Given the description of an element on the screen output the (x, y) to click on. 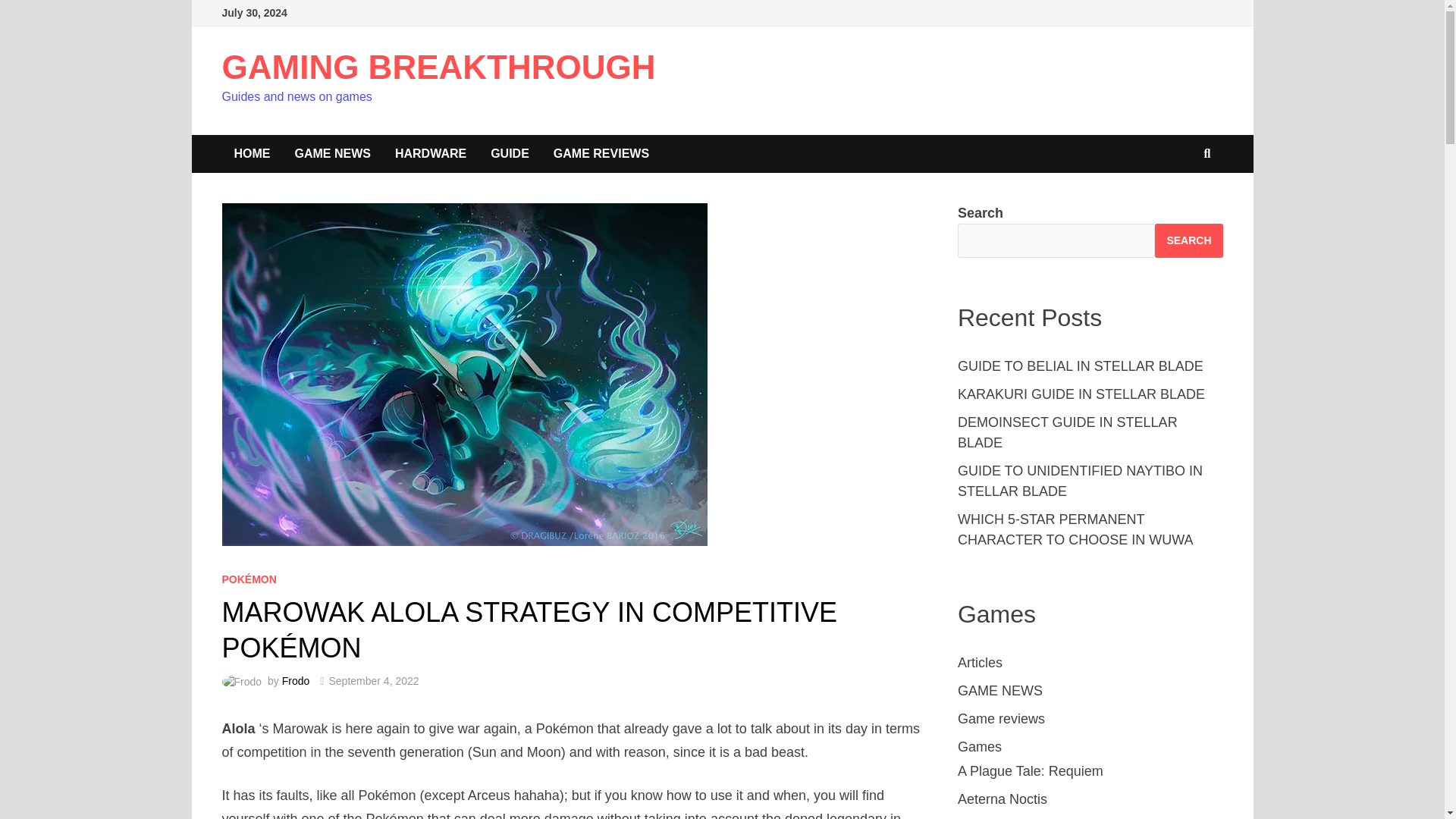
GAME NEWS (331, 153)
September 4, 2022 (374, 680)
GUIDE TO UNIDENTIFIED NAYTIBO IN STELLAR BLADE (1080, 480)
GAME NEWS (1000, 690)
GUIDE (510, 153)
GAMING BREAKTHROUGH (438, 66)
GUIDE TO BELIAL IN STELLAR BLADE (1081, 365)
HOME (251, 153)
DEMOINSECT GUIDE IN STELLAR BLADE (1067, 432)
KARAKURI GUIDE IN STELLAR BLADE (1081, 394)
GAME REVIEWS (601, 153)
Game reviews (1001, 718)
Articles (980, 662)
HARDWARE (430, 153)
WHICH 5-STAR PERMANENT CHARACTER TO CHOOSE IN WUWA (1075, 529)
